Given the description of an element on the screen output the (x, y) to click on. 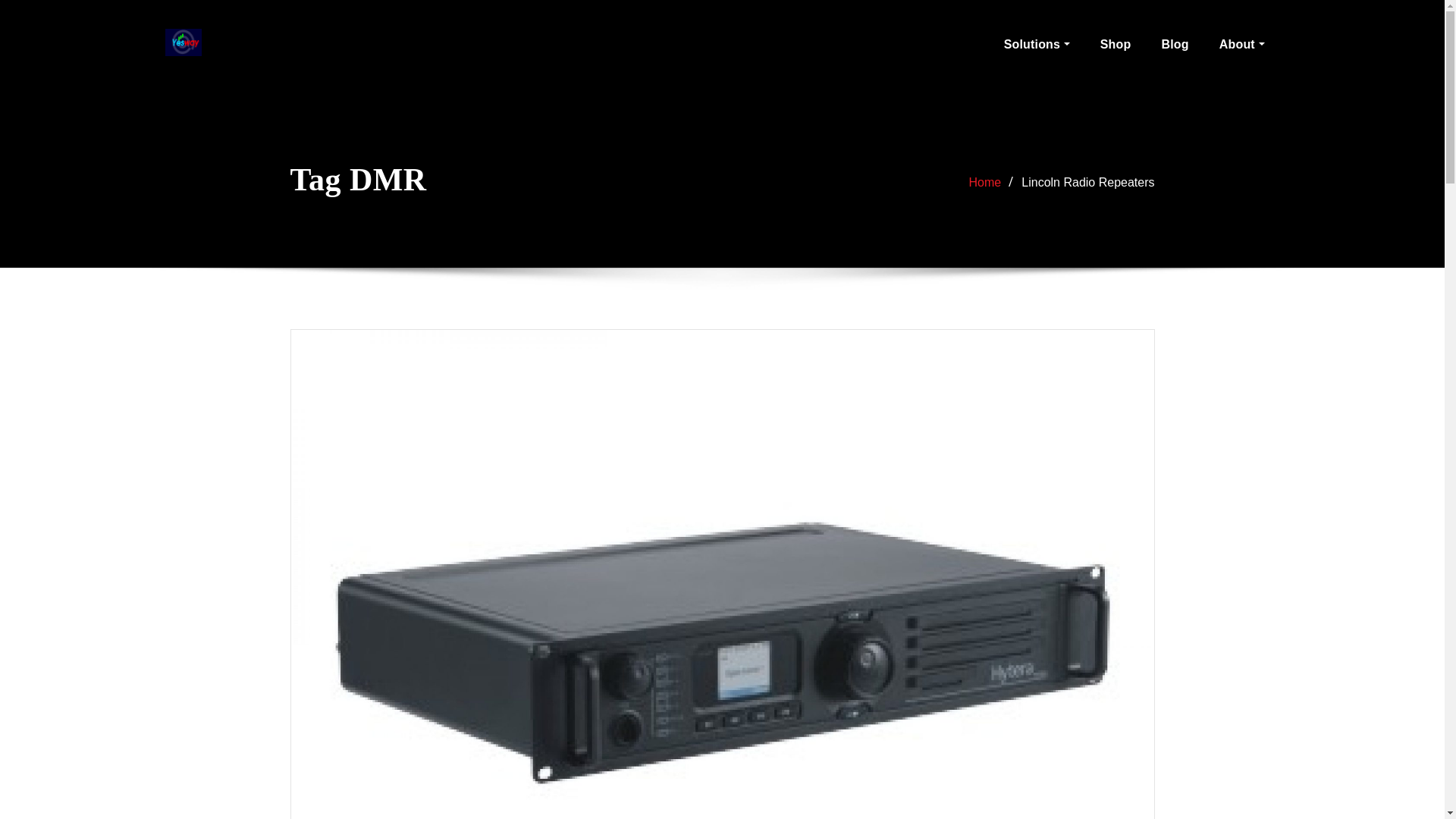
Solutions (1036, 44)
Lincoln Radio Repeaters (1088, 182)
Home (985, 182)
